Given the description of an element on the screen output the (x, y) to click on. 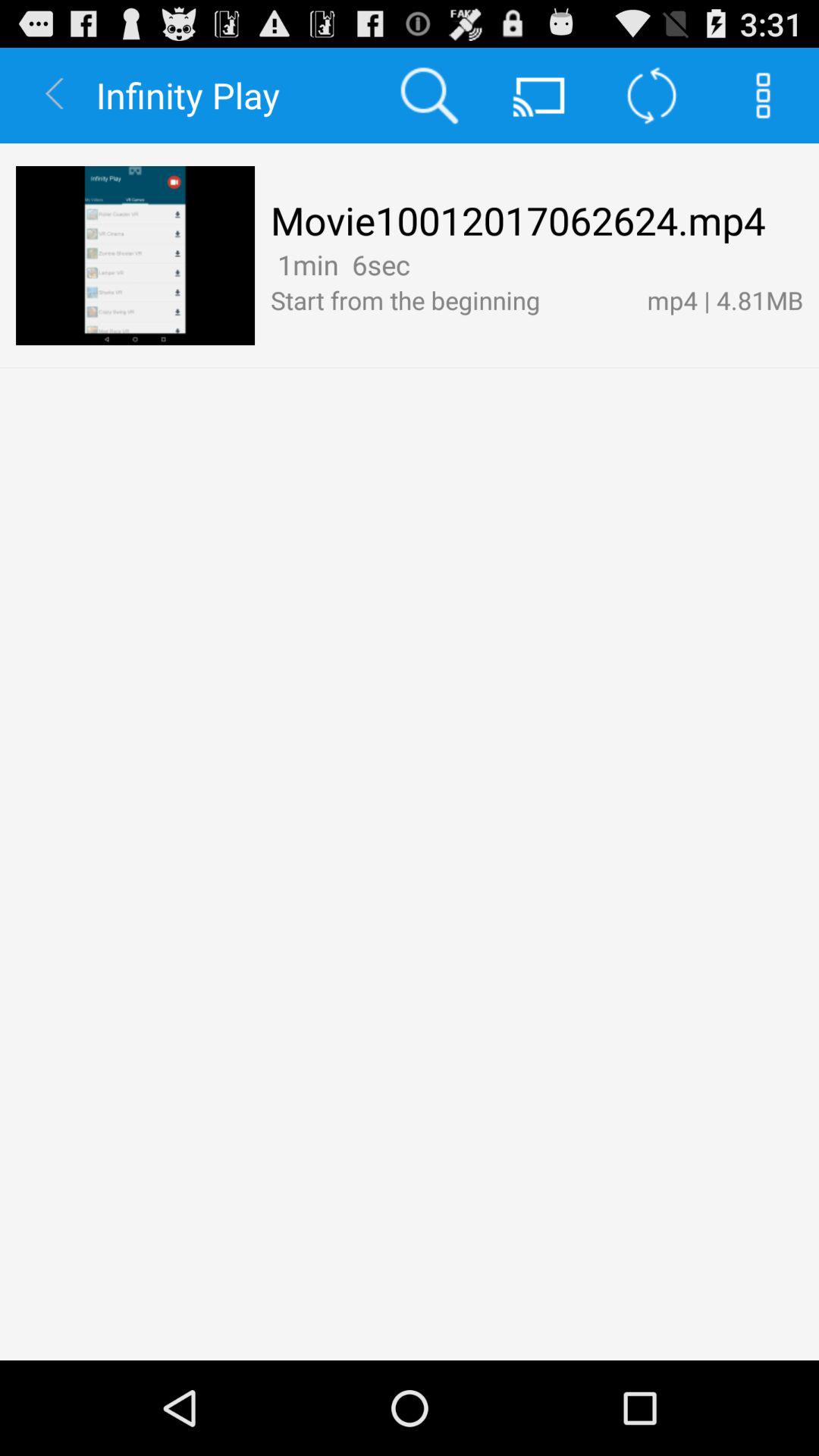
open the item to the left of the mp4 | 4.81mb (450, 299)
